Given the description of an element on the screen output the (x, y) to click on. 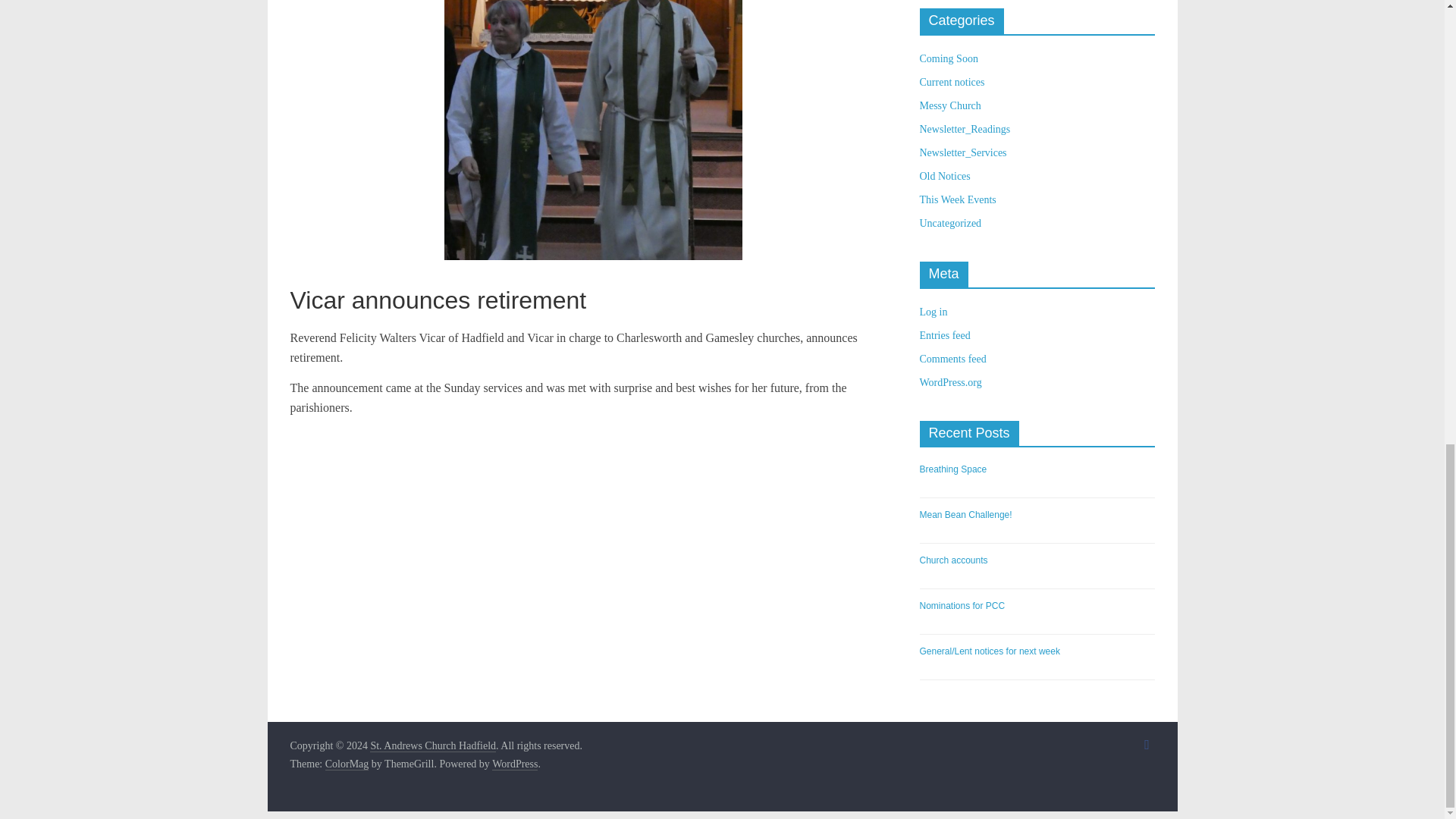
St. Andrews Church Hadfield (432, 746)
Coming Soon (947, 58)
Current notices (951, 81)
This Week Events (956, 199)
Old Notices (943, 175)
ColorMag (346, 764)
Entries feed (943, 335)
Log in (932, 311)
Comments feed (951, 358)
Messy Church (948, 105)
WordPress (514, 764)
Uncategorized (949, 223)
